Given the description of an element on the screen output the (x, y) to click on. 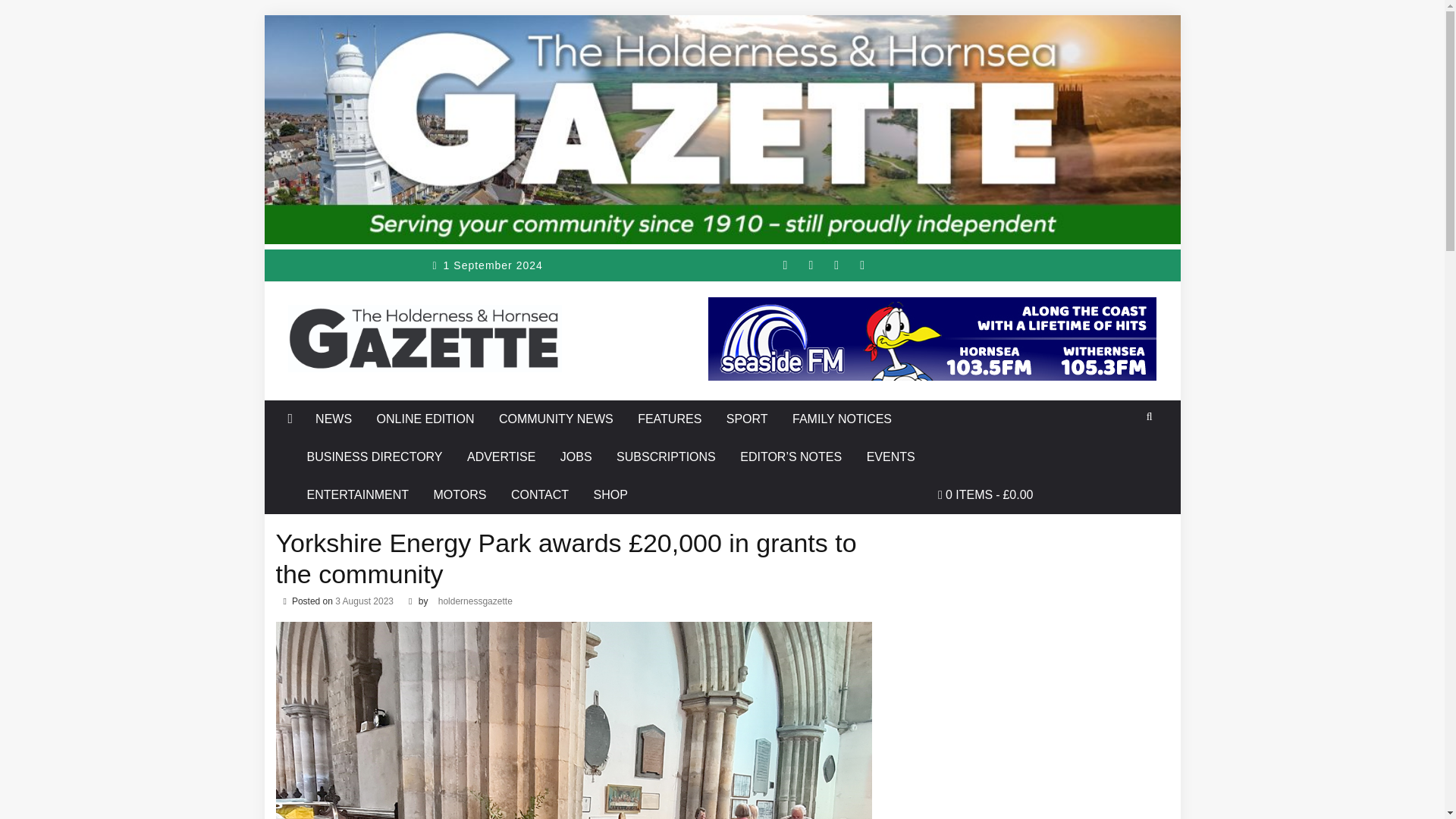
BUSINESS DIRECTORY (374, 456)
ENTERTAINMENT (357, 494)
NEWS (333, 419)
MOTORS (459, 494)
CONTACT (539, 494)
FAMILY NOTICES (841, 419)
FEATURES (669, 419)
ONLINE EDITION (425, 419)
SUBSCRIPTIONS (665, 456)
SHOP (609, 494)
